Given the description of an element on the screen output the (x, y) to click on. 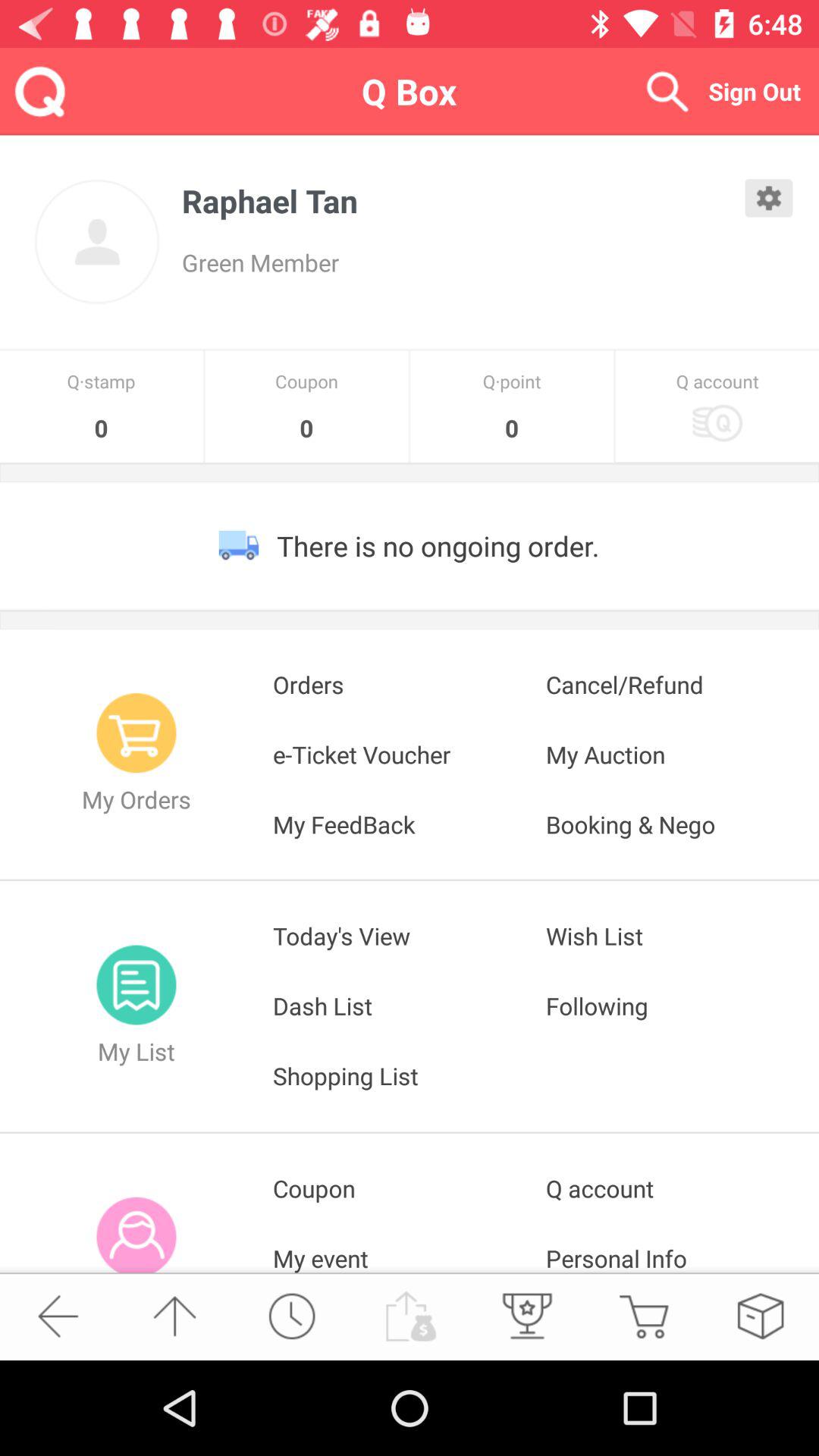
check settings (768, 198)
